Given the description of an element on the screen output the (x, y) to click on. 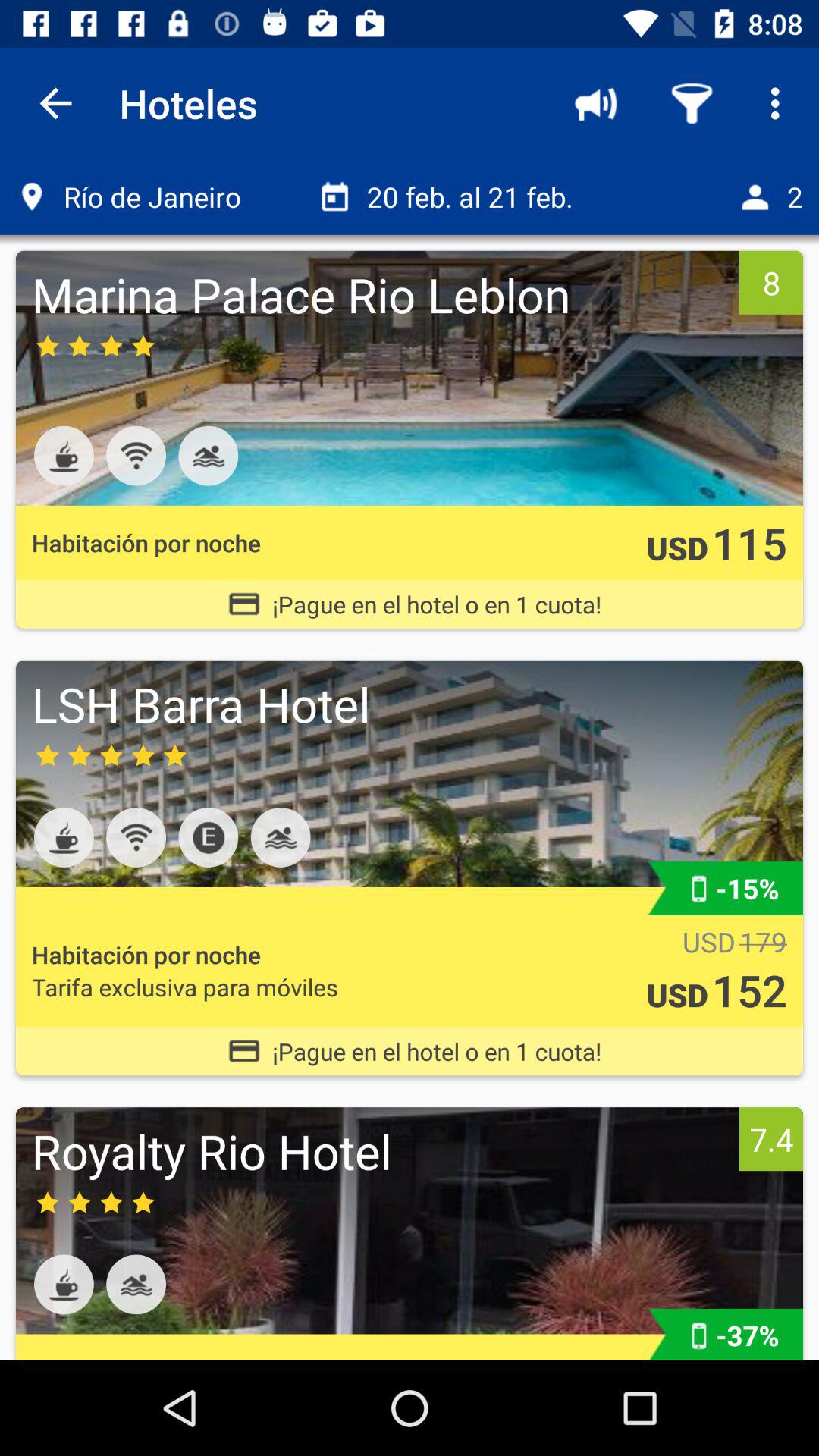
tap 8 item (771, 282)
